Given the description of an element on the screen output the (x, y) to click on. 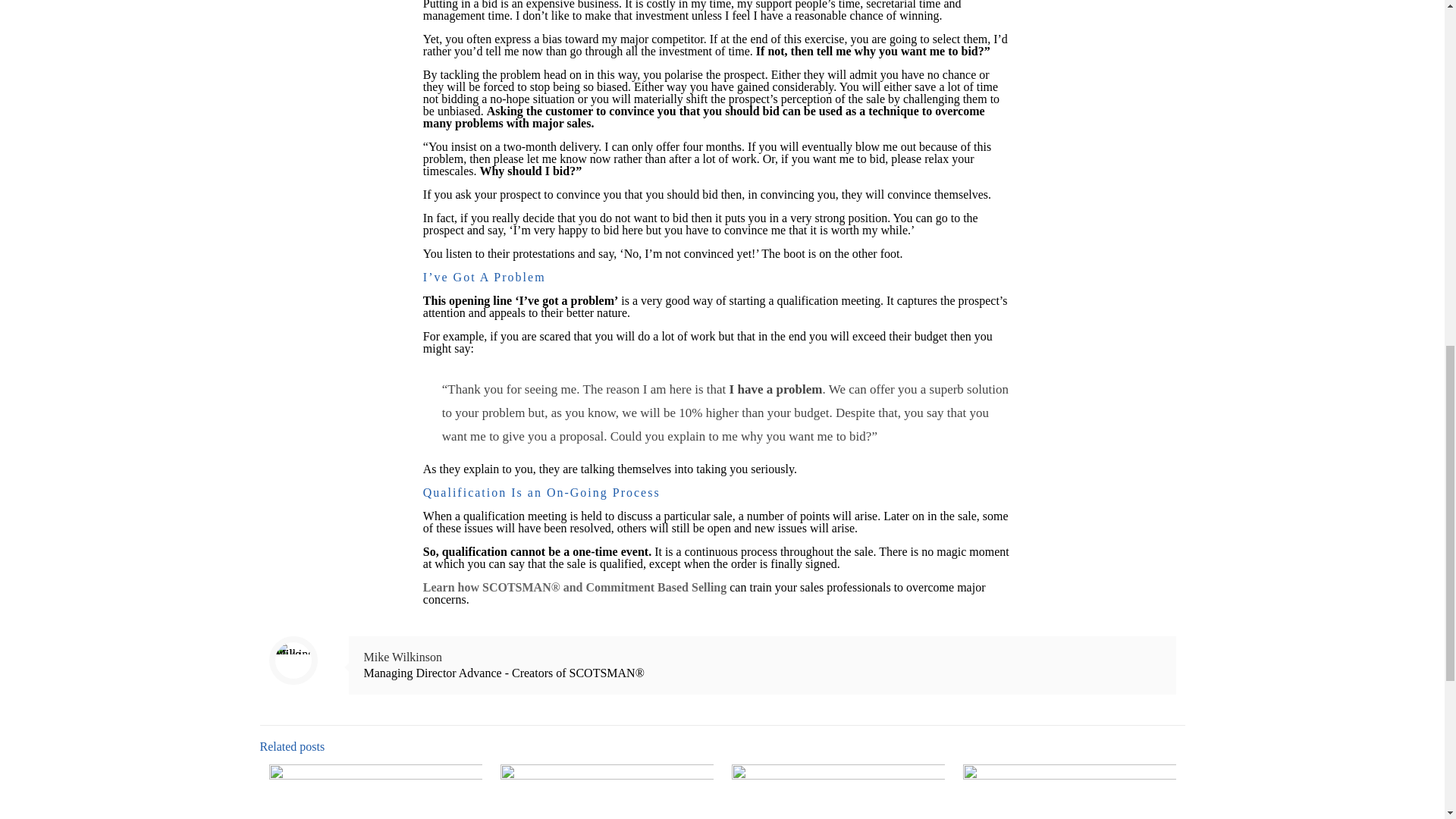
Mike Wilkinson (403, 656)
